Given the description of an element on the screen output the (x, y) to click on. 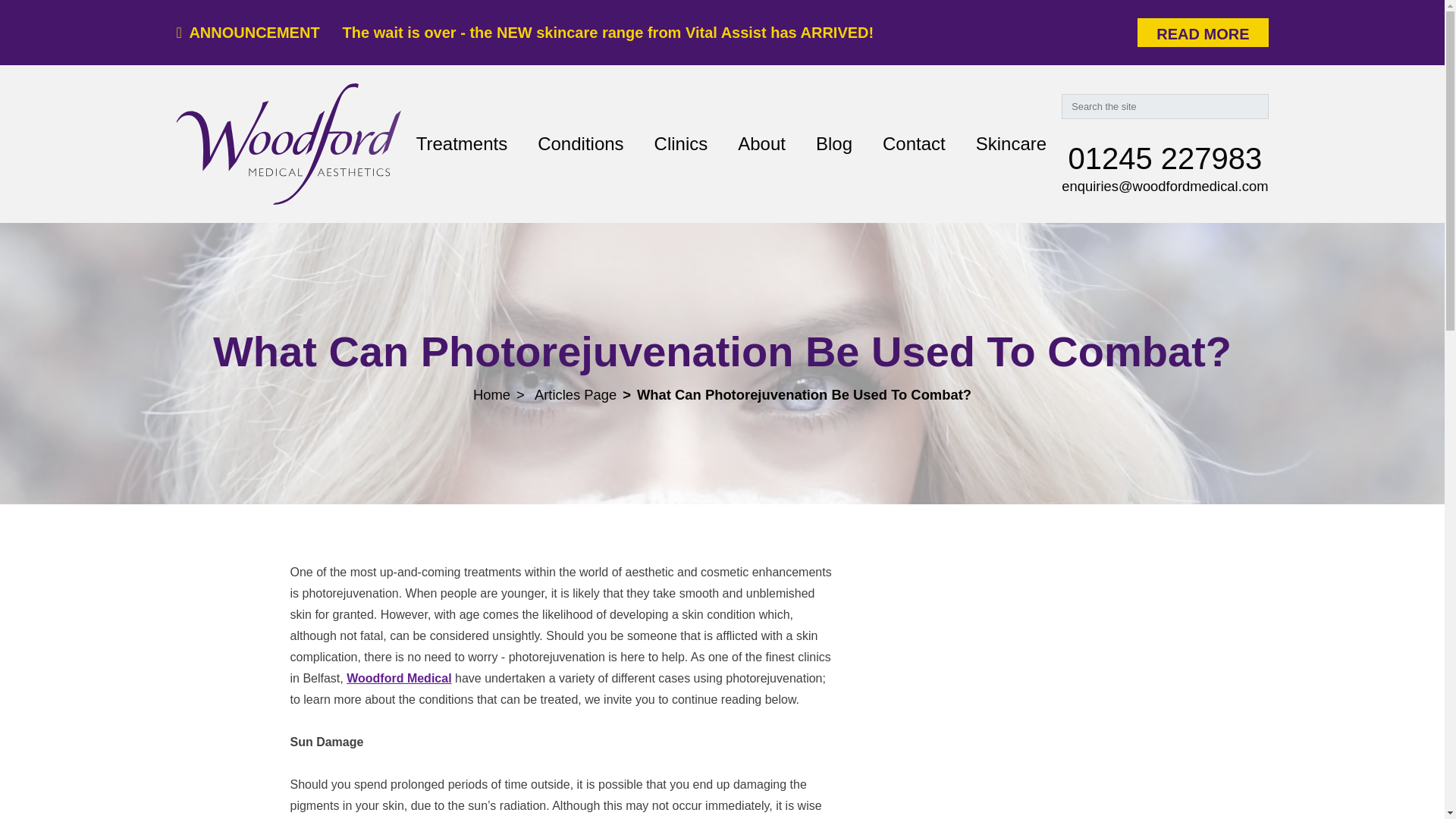
Blog (833, 143)
Home (492, 394)
Articles Page (574, 394)
Clinics (681, 143)
Skincare (1010, 143)
About (761, 143)
01245 227983 (1164, 158)
Conditions (580, 143)
Treatments (461, 143)
Return to homepage (288, 143)
